Given the description of an element on the screen output the (x, y) to click on. 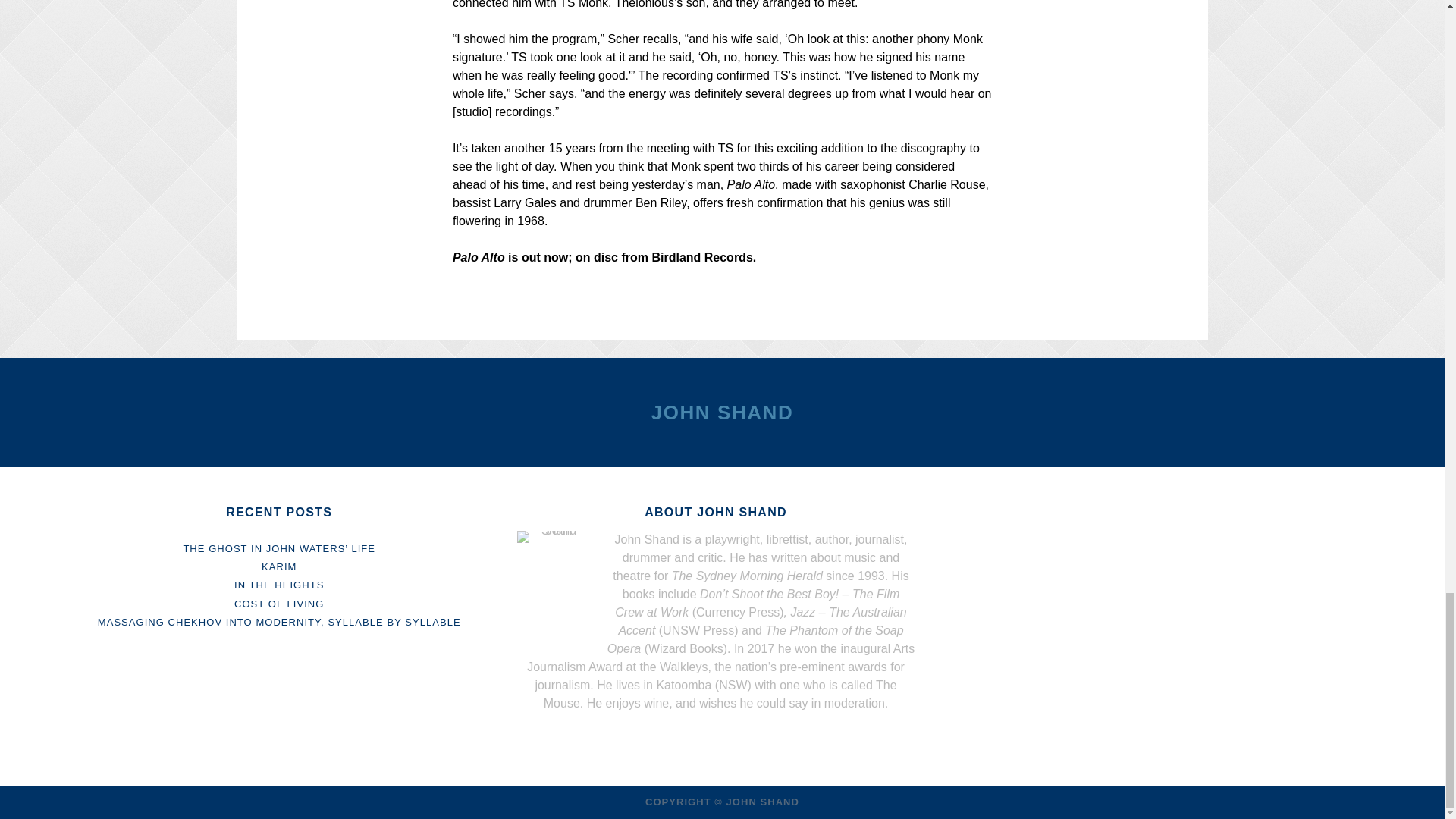
IN THE HEIGHTS (278, 584)
MASSAGING CHEKHOV INTO MODERNITY, SYLLABLE BY SYLLABLE (279, 622)
COST OF LIVING (278, 603)
KARIM (279, 566)
JOHN SHAND (721, 412)
